Given the description of an element on the screen output the (x, y) to click on. 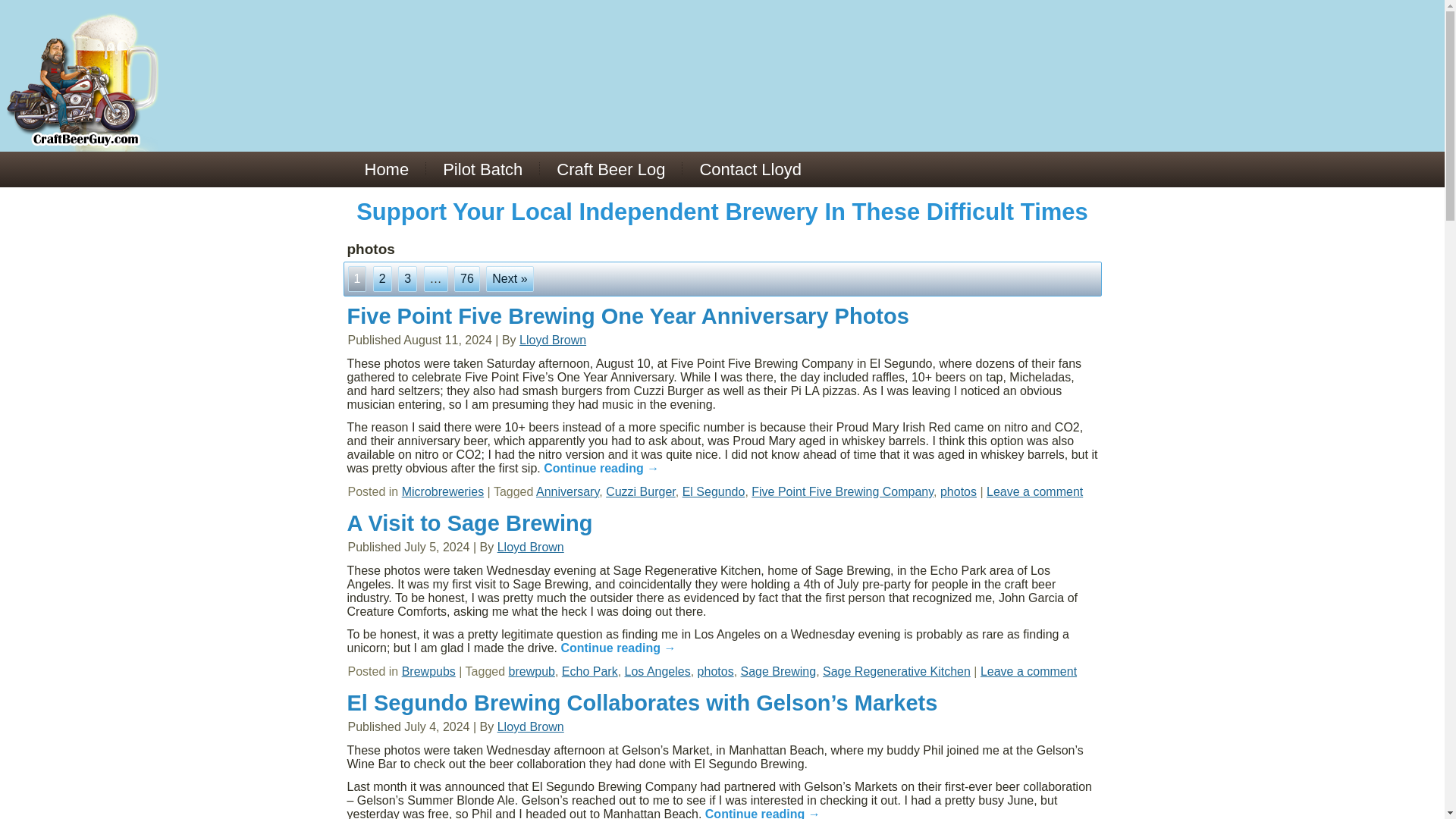
A Visit to Sage Brewing (469, 523)
Sage Brewing (778, 671)
Brewpubs (428, 671)
11:56 am (447, 339)
Contact Lloyd (750, 169)
6:28 pm (436, 546)
View all posts by Lloyd Brown (530, 546)
Lloyd Brown (552, 339)
Sage Regenerative Kitchen (896, 671)
Craft Beer Log (610, 169)
